Given the description of an element on the screen output the (x, y) to click on. 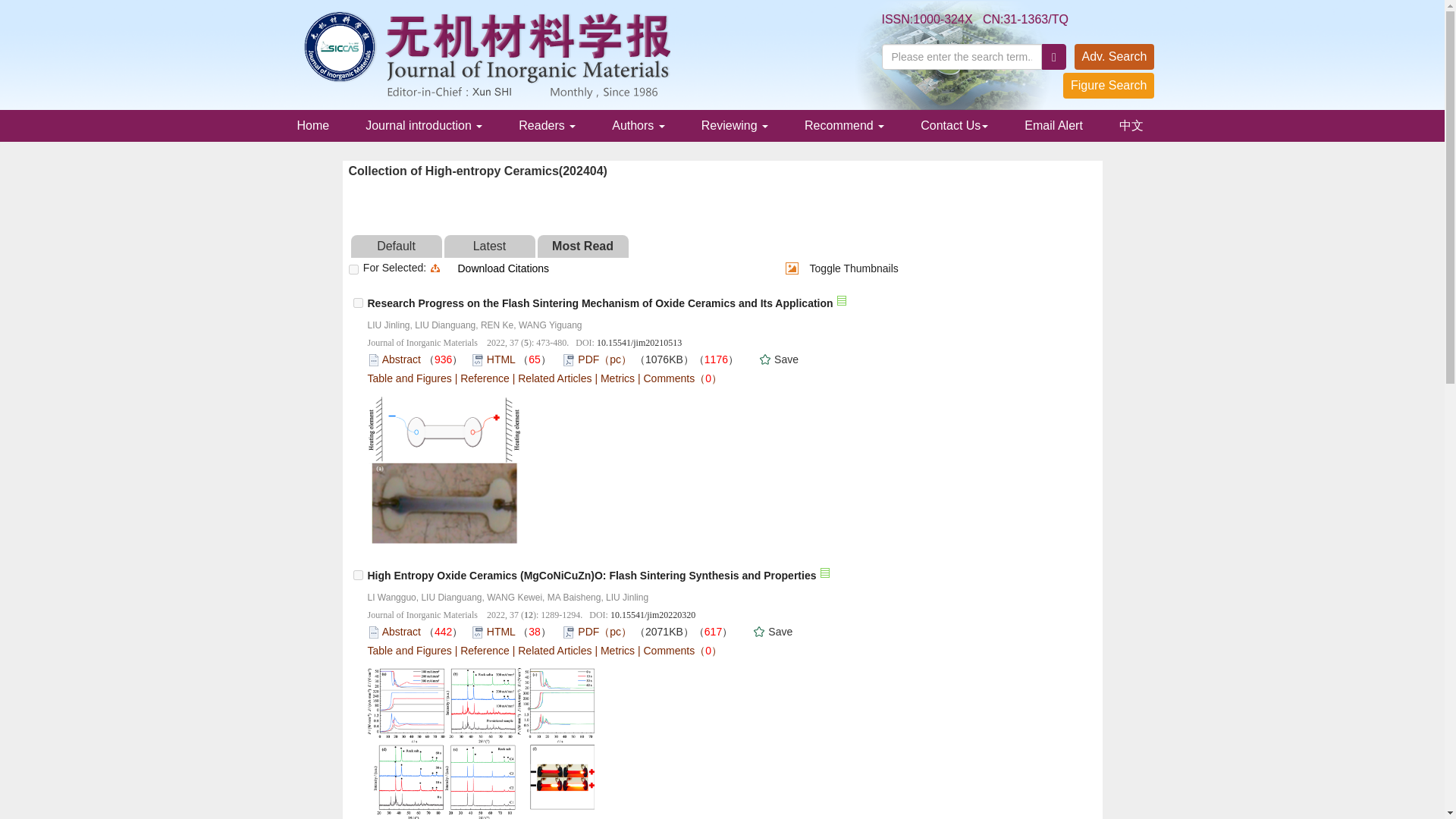
Default (395, 246)
Most Read (582, 246)
Toggle Thumbnails (791, 268)
Contact Us (954, 125)
Adv. Search (1114, 56)
on (353, 269)
Email Alert (1053, 125)
Figure Search (1108, 84)
Recommend (844, 125)
Journal introduction (423, 125)
Reviewing (734, 125)
Readers (547, 125)
Latest (489, 246)
Authors (638, 125)
Home (313, 125)
